Given the description of an element on the screen output the (x, y) to click on. 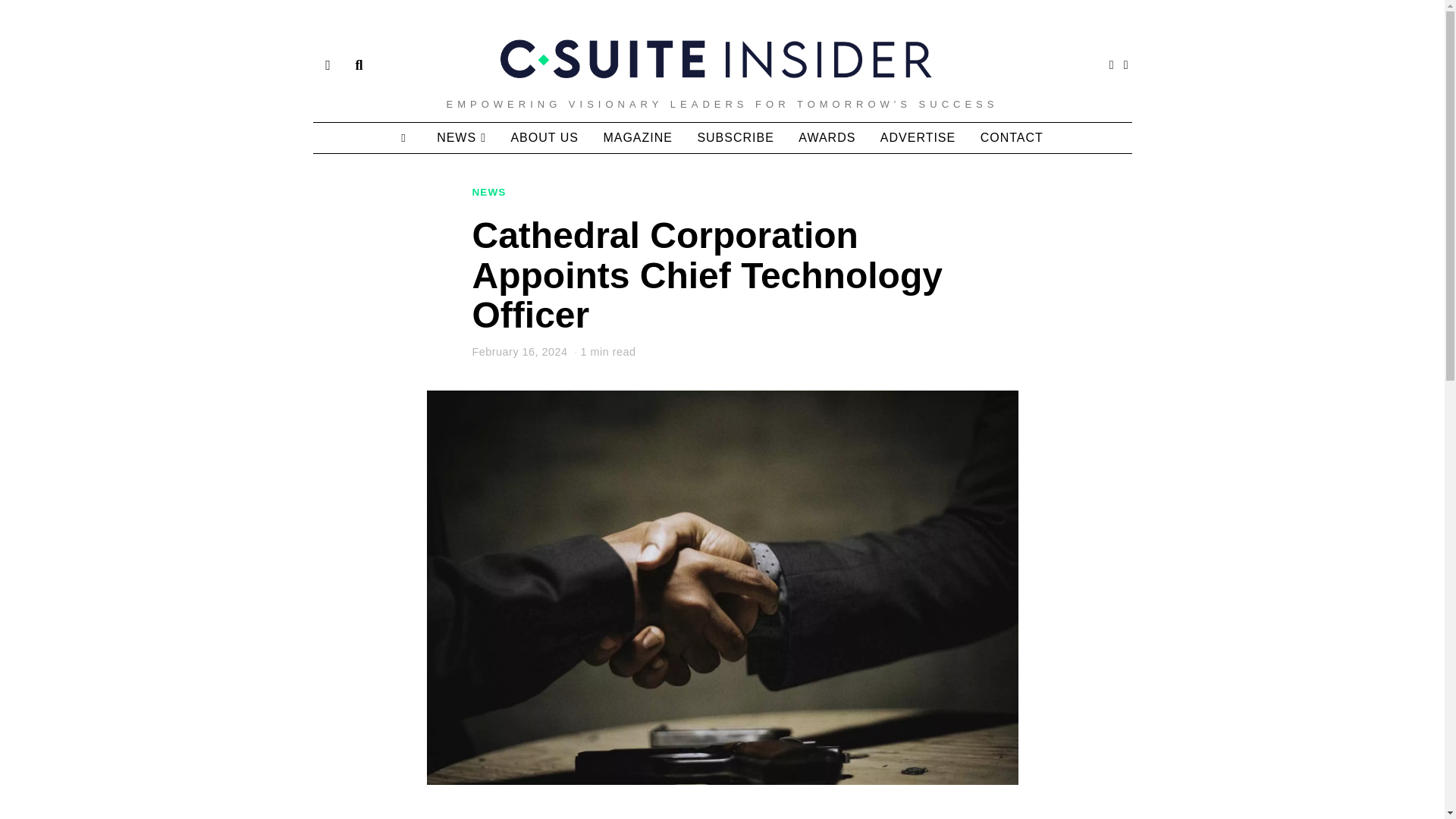
ADVERTISE (917, 137)
CONTACT (1011, 137)
NEWS (488, 192)
ABOUT US (544, 137)
SUBSCRIBE (734, 137)
NEWS (461, 137)
AWARDS (826, 137)
MAGAZINE (637, 137)
Cathedral Corporation (541, 818)
